Given the description of an element on the screen output the (x, y) to click on. 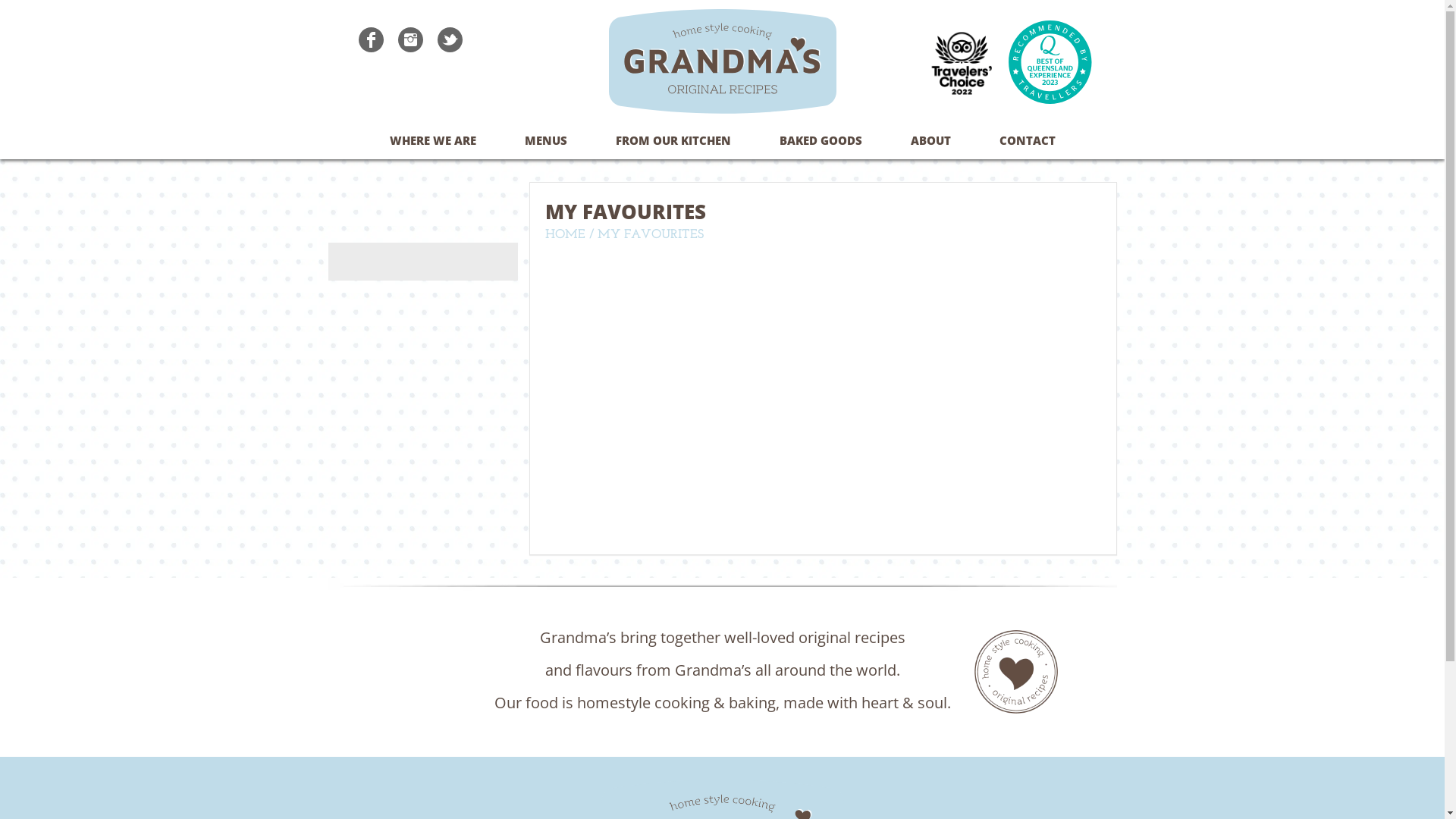
ABOUT Element type: text (929, 140)
Twitter Element type: hover (454, 45)
Instagram Element type: hover (415, 45)
BAKED GOODS Element type: text (820, 140)
HOME Element type: text (564, 234)
CONTACT Element type: text (1027, 140)
Facebook Element type: hover (375, 45)
WHERE WE ARE Element type: text (432, 140)
MENUS Element type: text (545, 140)
MY FAVOURITES Element type: text (650, 234)
FROM OUR KITCHEN Element type: text (673, 140)
